Given the description of an element on the screen output the (x, y) to click on. 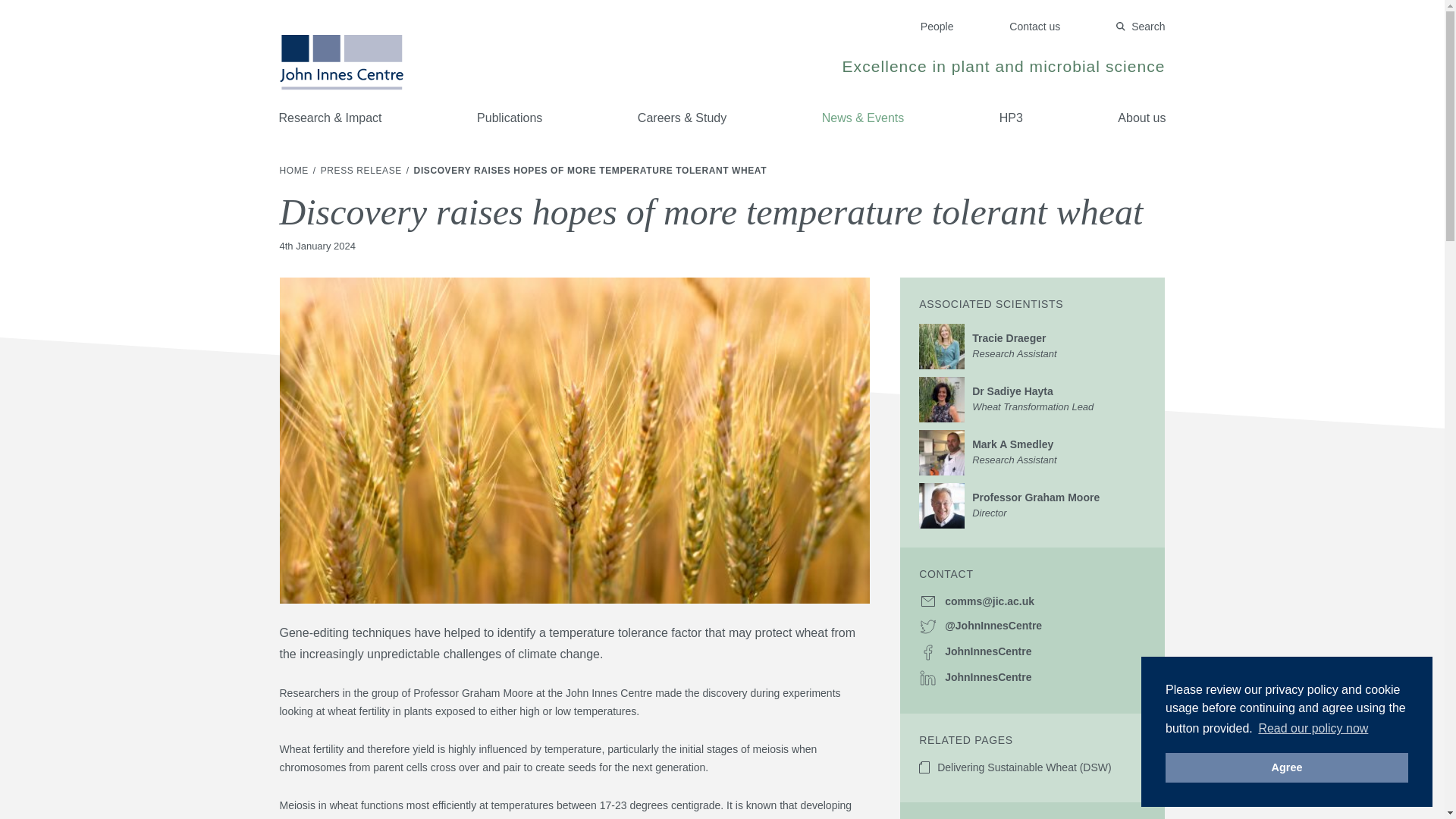
Contact us (1034, 26)
Publications (509, 117)
HP3 (1031, 398)
JohnInnesCentre (1031, 345)
Agree (1010, 117)
Search (1031, 651)
PRESS RELEASE (1286, 767)
People (1031, 452)
About us (1140, 26)
Read our policy now (362, 170)
HOME (936, 26)
